Given the description of an element on the screen output the (x, y) to click on. 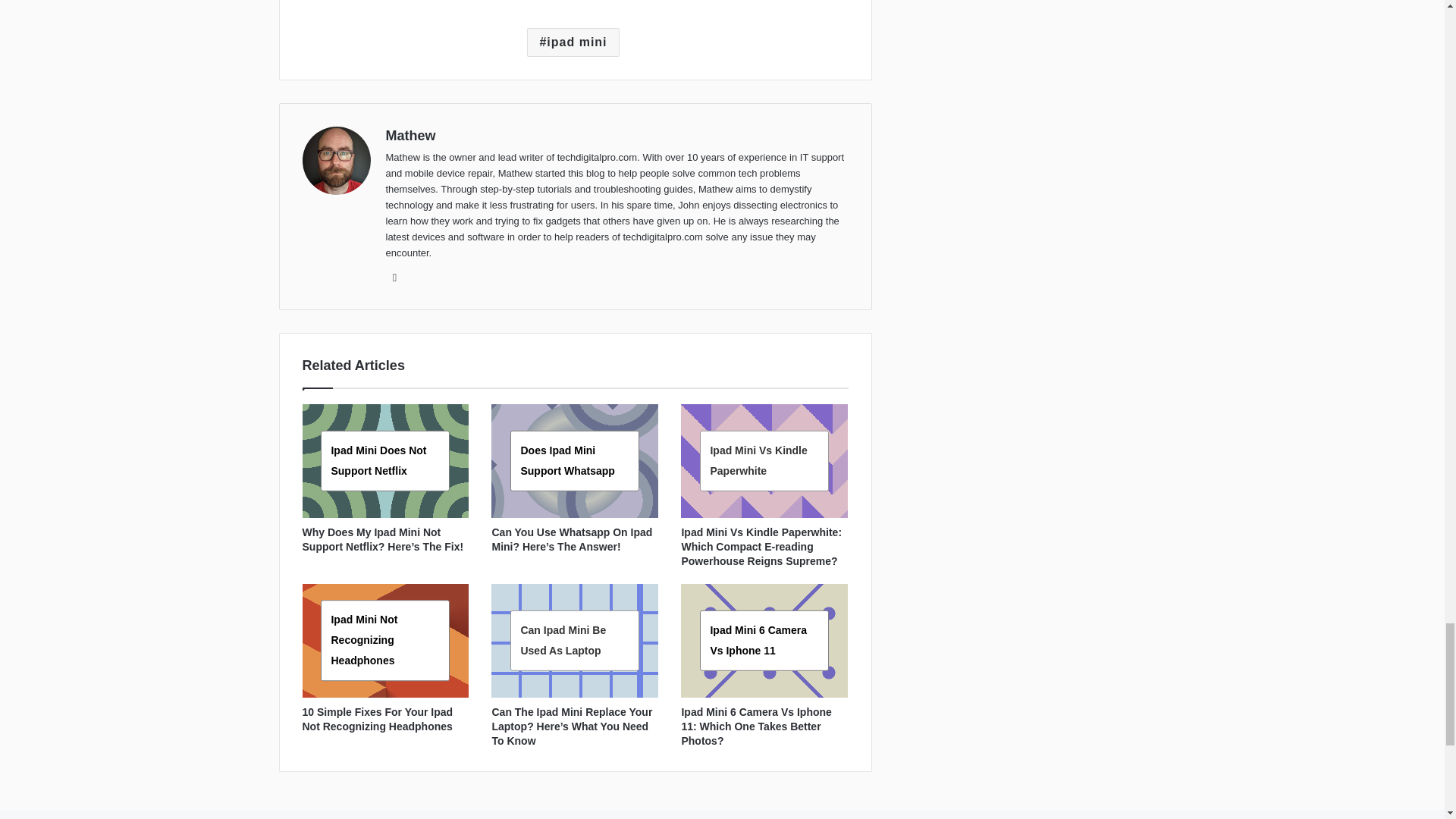
Ipad Mini Vs Kindle Paperwhite (758, 459)
ipad mini (572, 41)
Does Ipad Mini Support Whatsapp (566, 459)
Ipad Mini Does Not Support Netflix (378, 459)
Mathew (410, 135)
Website (394, 277)
